Given the description of an element on the screen output the (x, y) to click on. 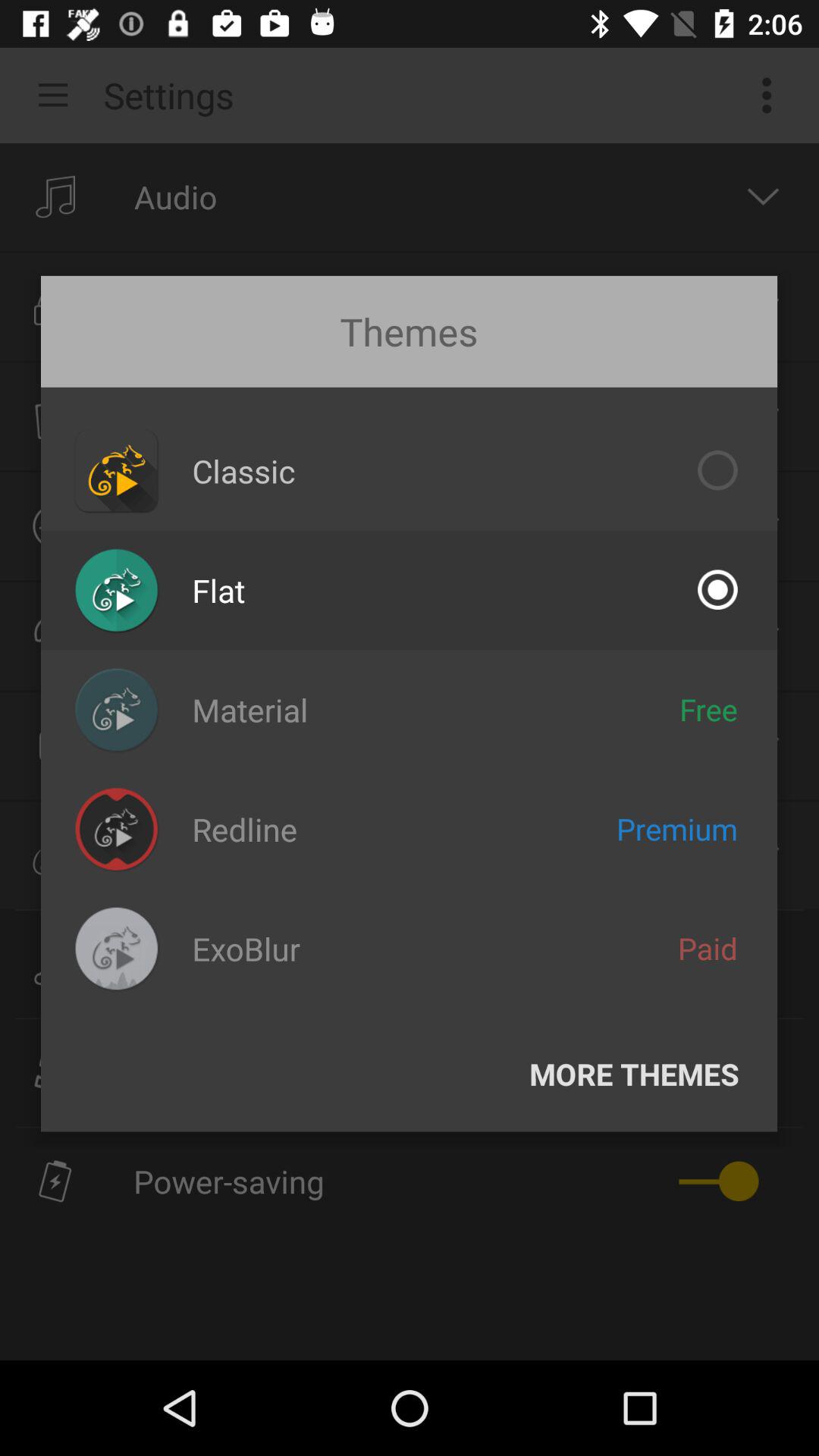
launch item below the premium item (707, 948)
